Given the description of an element on the screen output the (x, y) to click on. 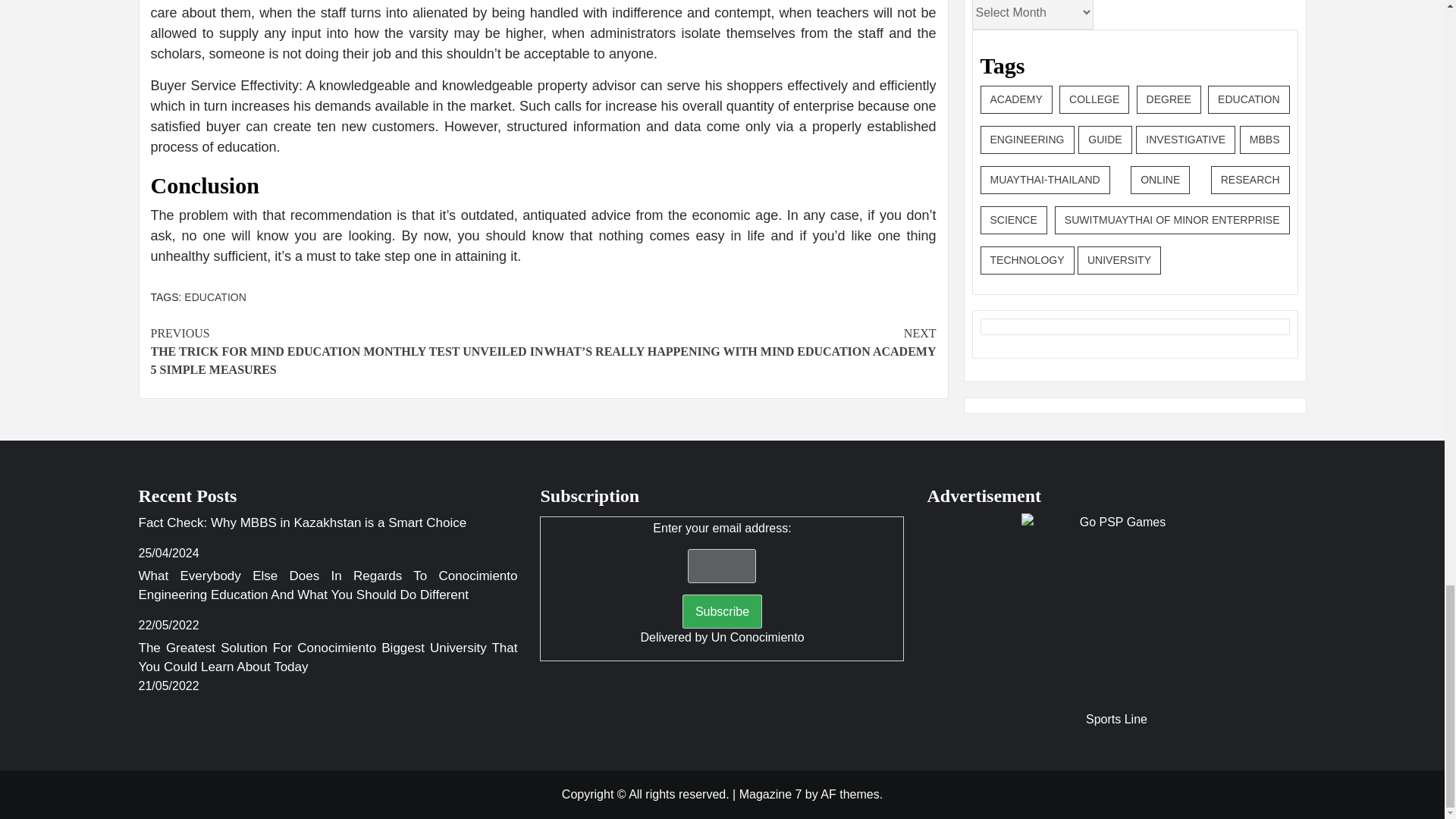
Go PSP Games (1116, 607)
Subscribe (721, 611)
EDUCATION (215, 297)
